Given the description of an element on the screen output the (x, y) to click on. 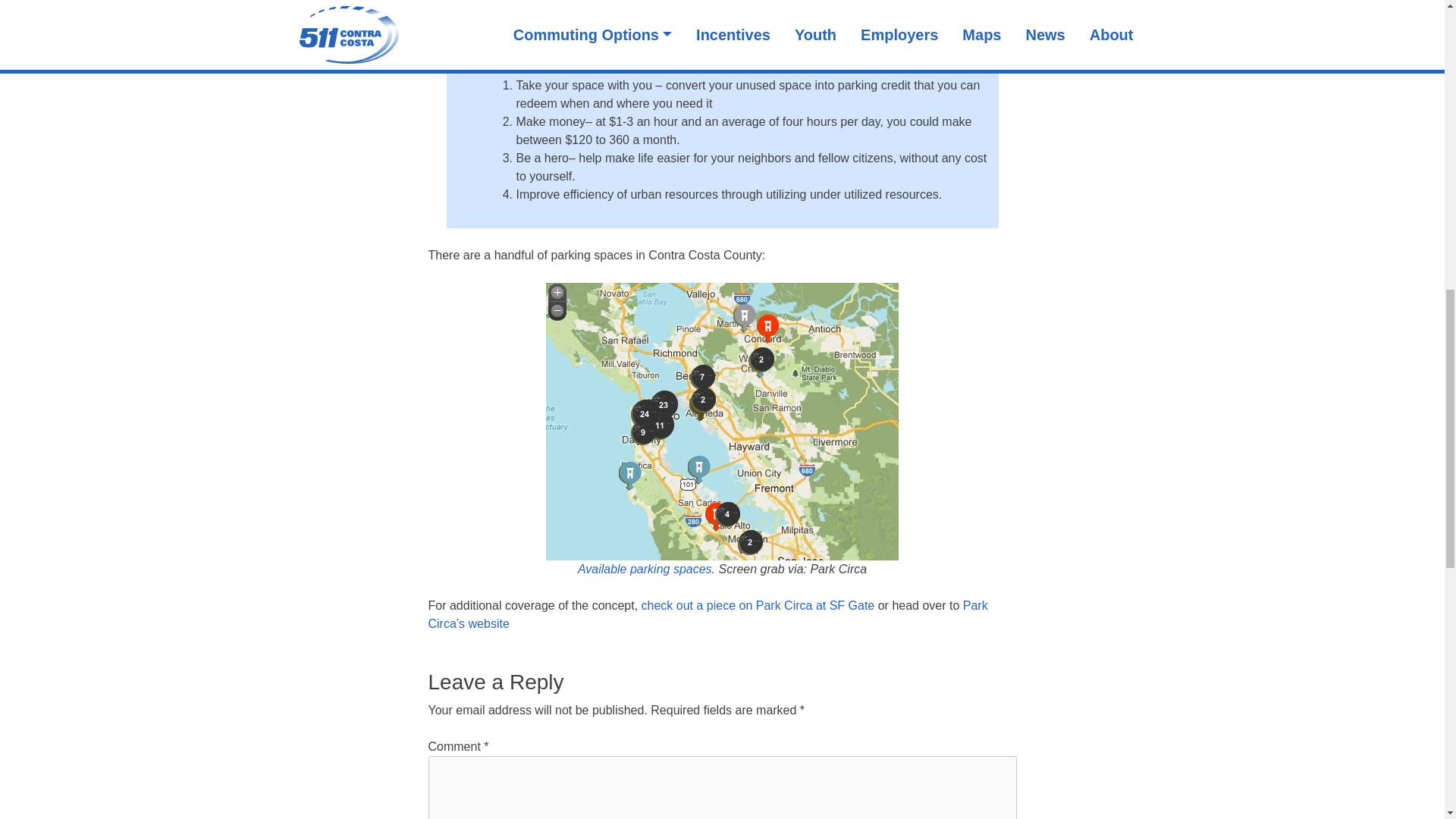
Available parking spaces (644, 568)
check out a piece on Park Circa at SF Gate (758, 604)
for other benefits Park Circa offers (787, 42)
